Given the description of an element on the screen output the (x, y) to click on. 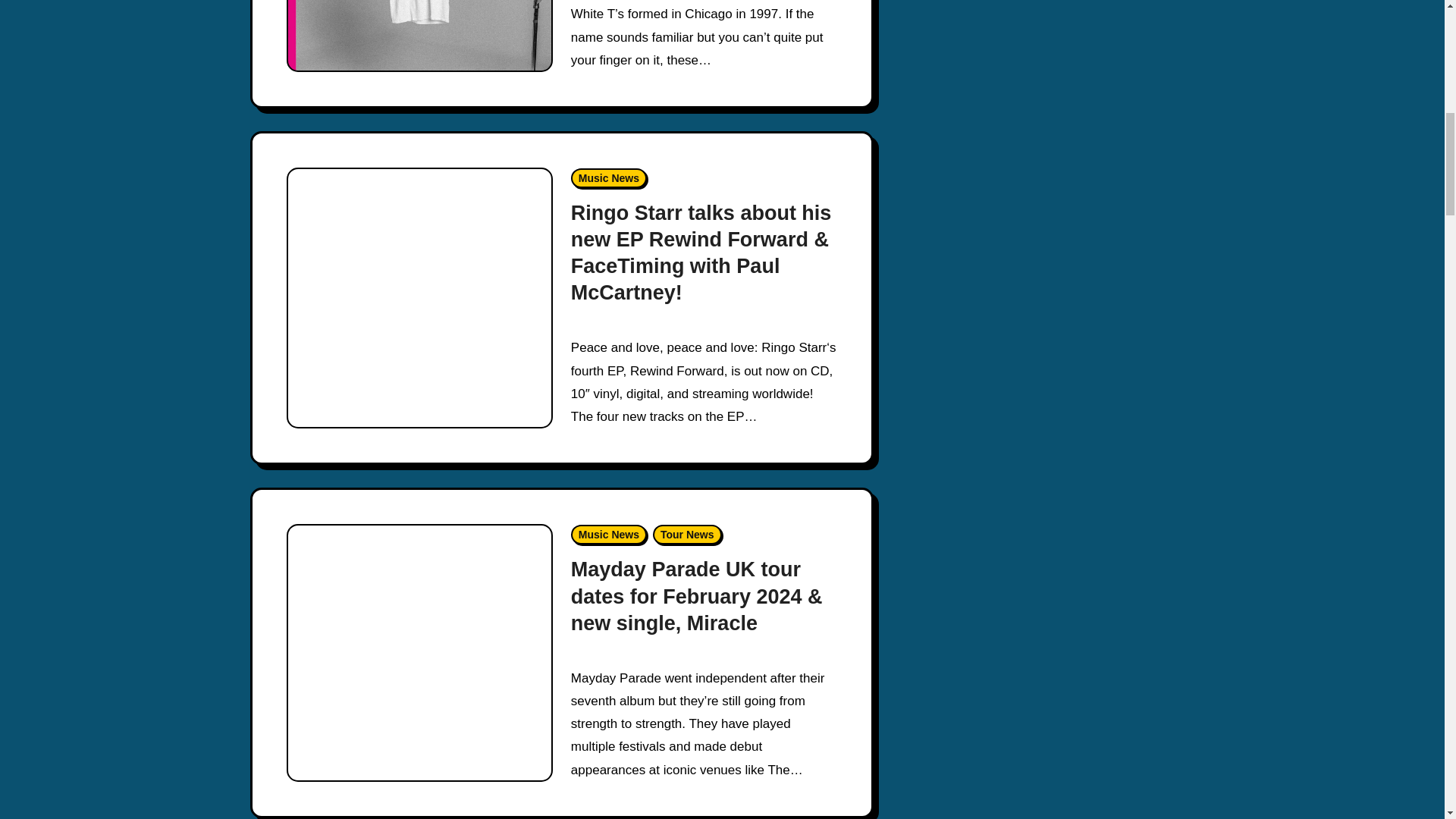
Tour News (687, 534)
Music News (608, 178)
Music News (608, 534)
